Given the description of an element on the screen output the (x, y) to click on. 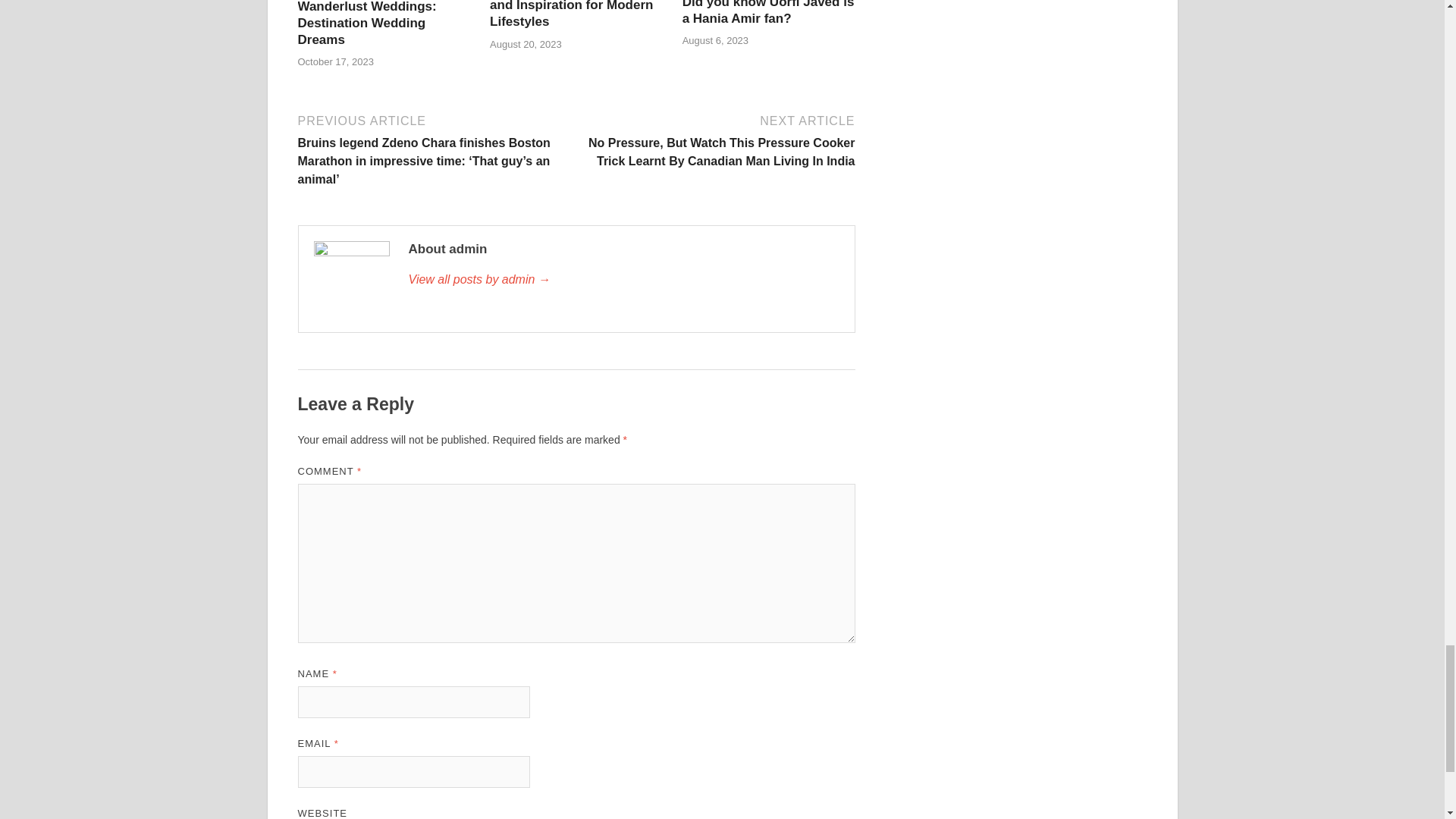
Did you know Uorfi Javed is a Hania Amir fan? (768, 12)
Wanderlust Weddings: Destination Wedding Dreams (366, 23)
Wanderlust Weddings: Destination Wedding Dreams (366, 23)
admin (622, 280)
Did you know Uorfi Javed is a Hania Amir fan? (768, 12)
